Given the description of an element on the screen output the (x, y) to click on. 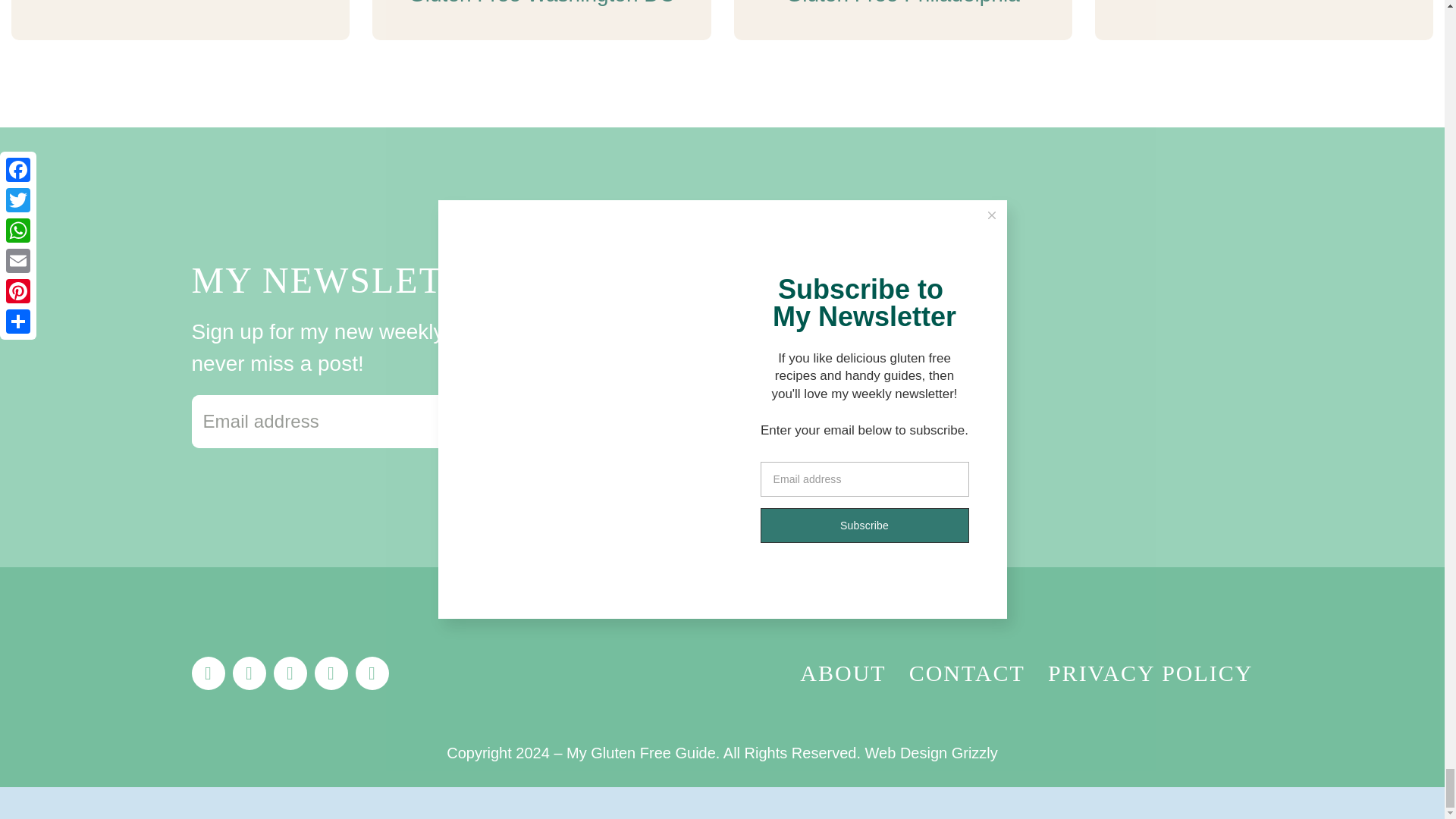
Instagram (289, 673)
Facebook (207, 673)
Gluten Free Washington DC (542, 5)
YouTube (371, 673)
Gluten Free Philadelphia (903, 5)
Pinterest (330, 673)
Twitter (247, 673)
